Given the description of an element on the screen output the (x, y) to click on. 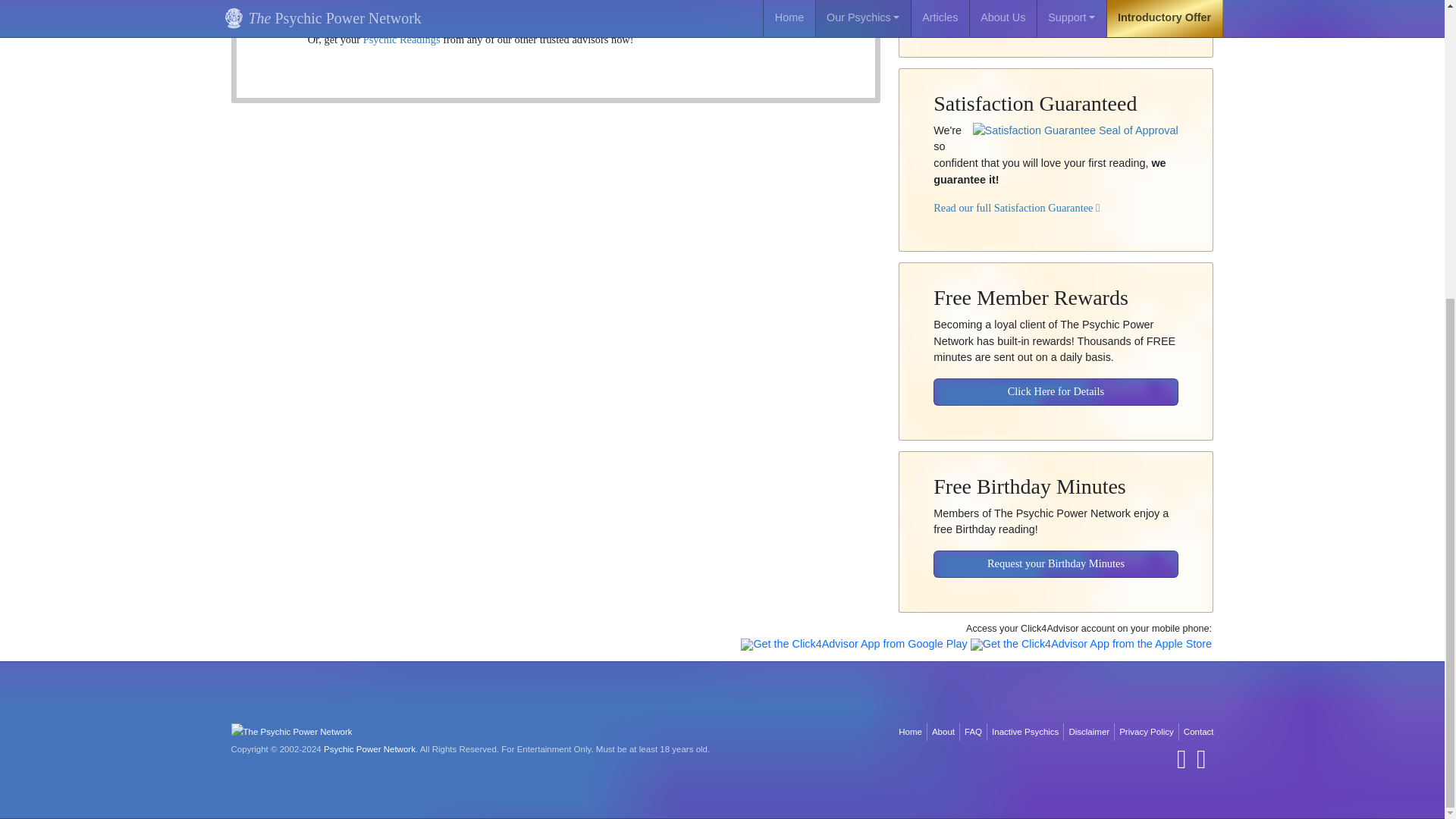
Click Here for Details (1055, 380)
Request your Birthday Minutes (1055, 553)
Read our full Satisfaction Guarantee  (1016, 196)
Please Watch the Click4Advisor Video Tutorial  (1041, 4)
Psychic Readings (401, 39)
Psychic Readings (401, 39)
Home (909, 732)
